Given the description of an element on the screen output the (x, y) to click on. 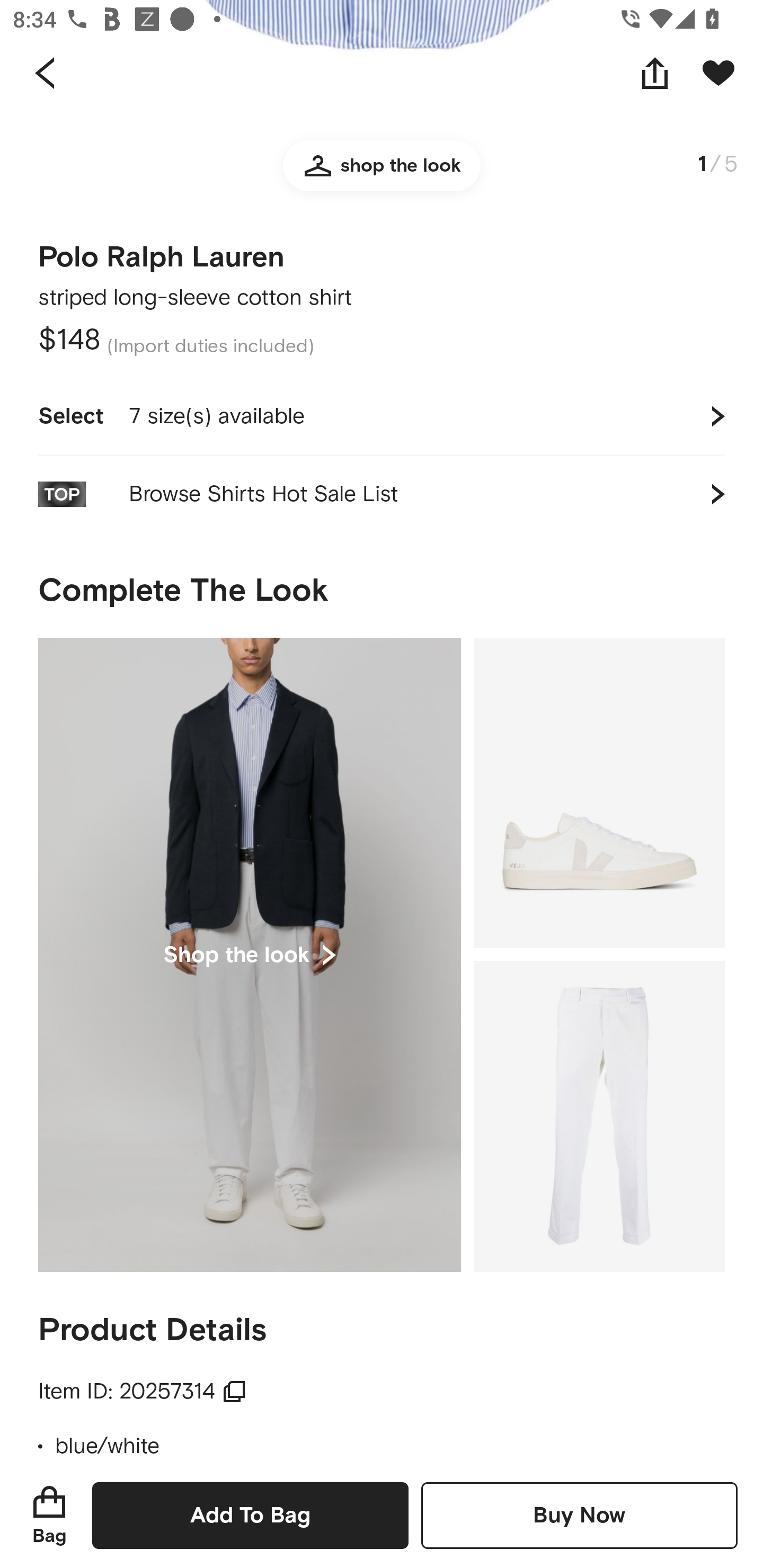
Polo Ralph Lauren (161, 251)
Select 7 size(s) available (381, 415)
Browse Shirts Hot Sale List (381, 494)
Item ID: 20257314 (142, 1391)
Bag (49, 1515)
Add To Bag (250, 1515)
Buy Now (579, 1515)
